Given the description of an element on the screen output the (x, y) to click on. 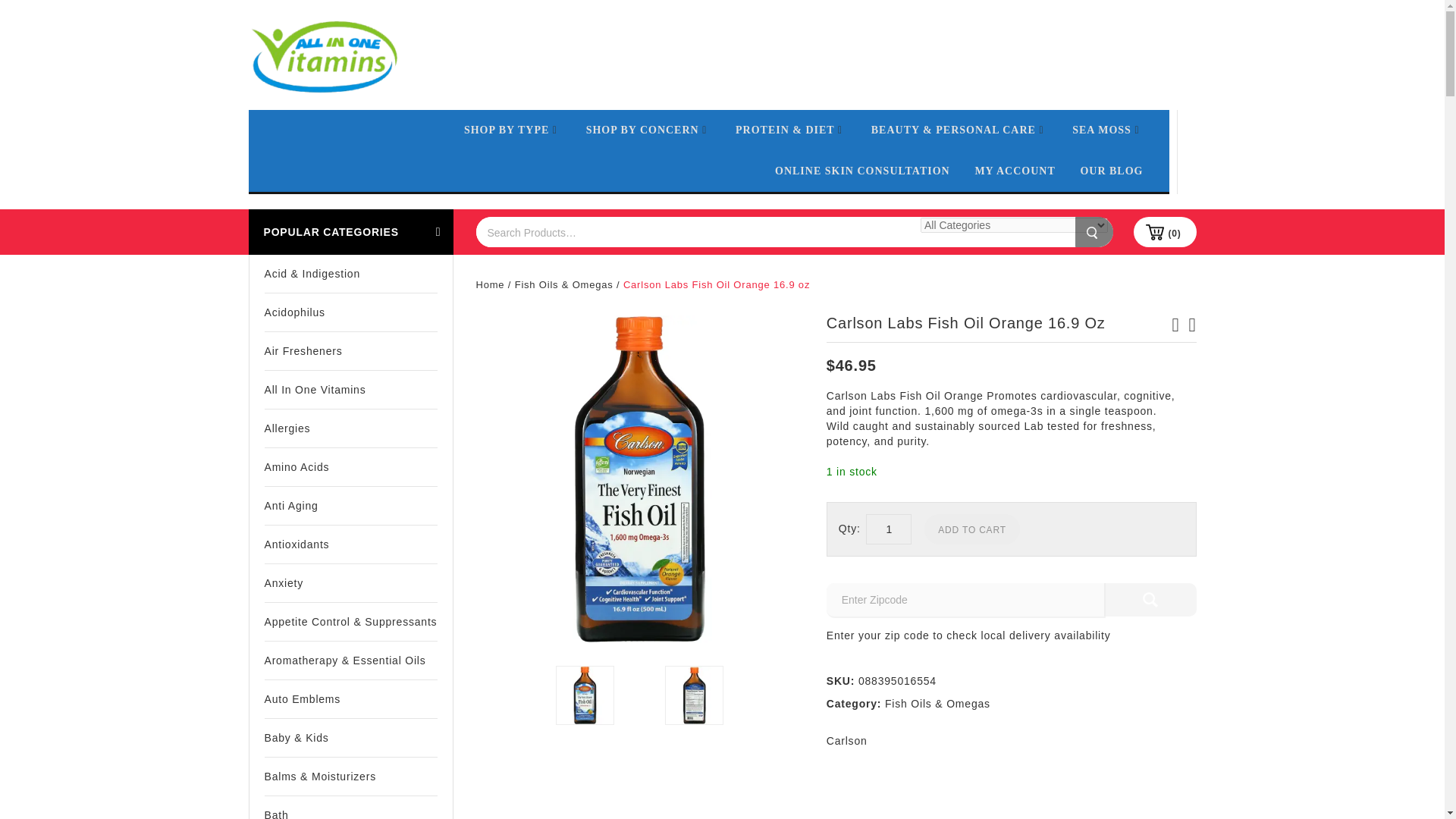
SHOP BY CONCERN (648, 129)
View your shopping cart (1173, 233)
View brand (847, 740)
Annotation 2023-08-28 011113 (694, 694)
Search (1094, 232)
All in One Vitamins (323, 55)
View your shopping cart (1164, 232)
SHOP BY TYPE (512, 129)
Qty (888, 529)
1 (888, 529)
Search for: (695, 232)
25 (585, 694)
25 (639, 478)
